Given the description of an element on the screen output the (x, y) to click on. 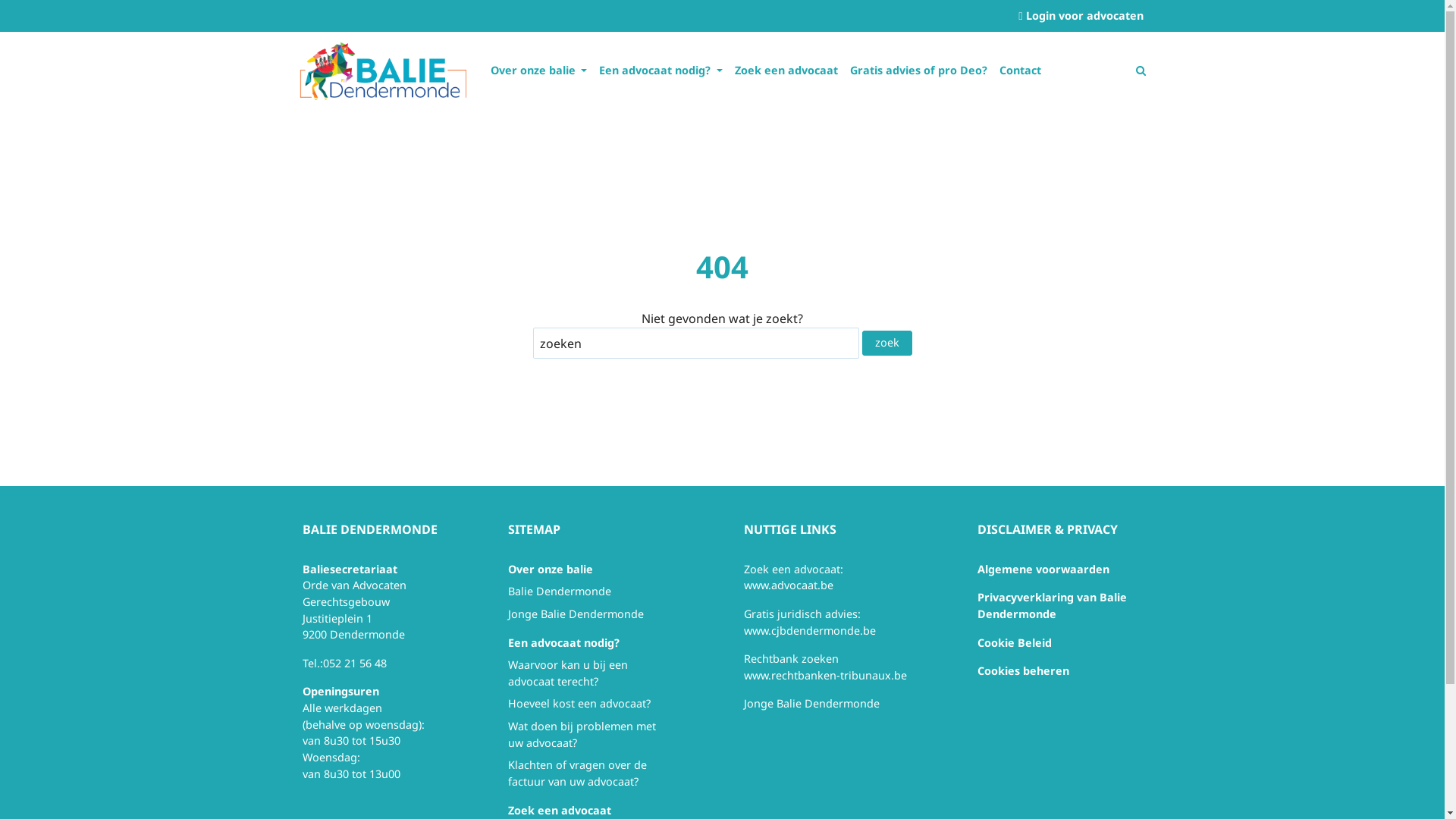
zoek Element type: text (886, 342)
Zoek een advocaat Element type: text (785, 69)
Over onze balie Element type: text (550, 568)
Algemene voorwaarden Element type: text (1042, 568)
Contact Element type: text (1020, 69)
Jonge Balie Dendermonde Element type: text (810, 703)
Gratis advies of pro Deo? Element type: text (918, 69)
www.rechtbanken-tribunaux.be Element type: text (824, 675)
Balie Dendermonde Element type: hover (381, 69)
Cookies beheren Element type: text (1022, 670)
Een advocaat nodig? Element type: text (660, 69)
Login voor advocaten Element type: text (1080, 15)
Waarvoor kan u bij een advocaat terecht? Element type: text (567, 672)
Zoek een advocaat Element type: text (559, 809)
Hoeveel kost een advocaat? Element type: text (579, 703)
Cookie Beleid Element type: text (1013, 642)
www.cjbdendermonde.be Element type: text (809, 630)
Wat doen bij problemen met uw advocaat? Element type: text (581, 733)
www.advocaat.be Element type: text (787, 584)
Balie Dendermonde Element type: text (559, 590)
Een advocaat nodig? Element type: text (563, 642)
Privacyverklaring van Balie Dendermonde Element type: text (1051, 605)
Klachten of vragen over de factuur van uw advocaat? Element type: text (577, 772)
Over onze balie Element type: text (537, 69)
Jonge Balie Dendermonde Element type: text (575, 613)
